Given the description of an element on the screen output the (x, y) to click on. 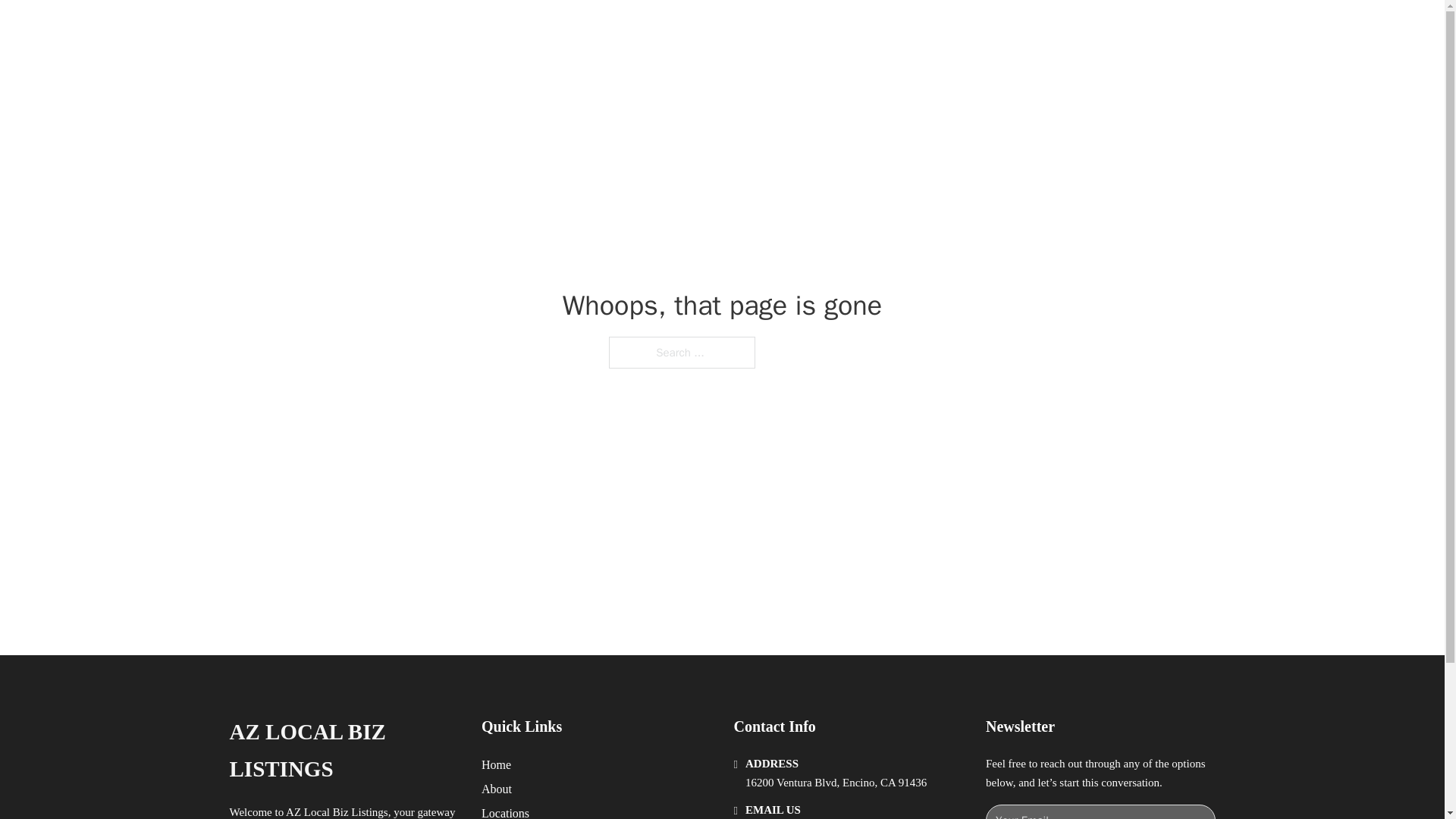
Locations (505, 811)
LOCATIONS (990, 29)
AZ LOCAL BIZ LISTINGS (343, 750)
Home (496, 764)
AZ LOCAL BIZ LISTINGS (425, 28)
About (496, 788)
HOME (919, 29)
